Given the description of an element on the screen output the (x, y) to click on. 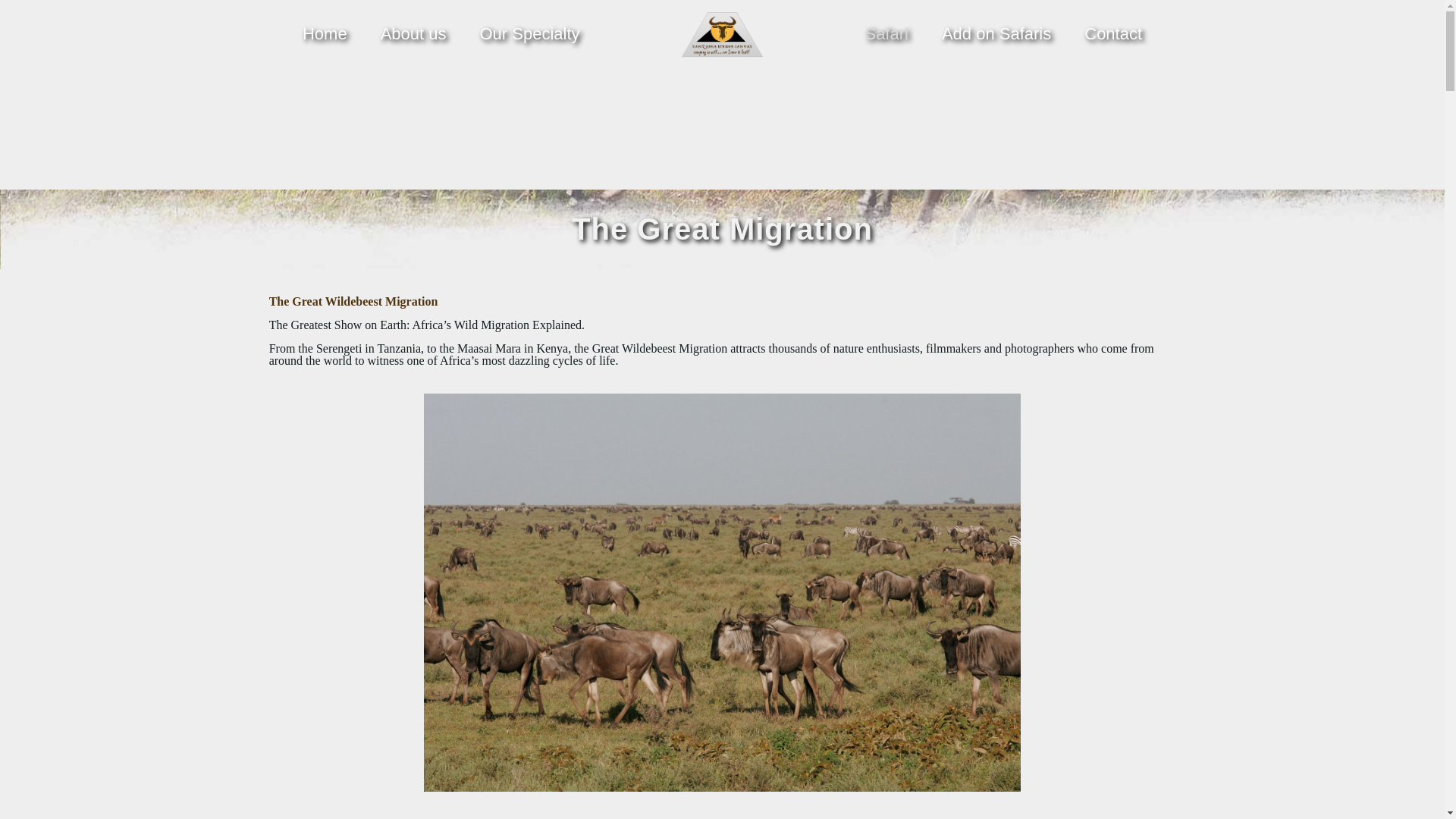
Tanzania Under Canvas (721, 33)
About us (413, 33)
Home (324, 33)
Safari (885, 33)
Our Specialty (529, 33)
Add on Safaris (995, 33)
